Given the description of an element on the screen output the (x, y) to click on. 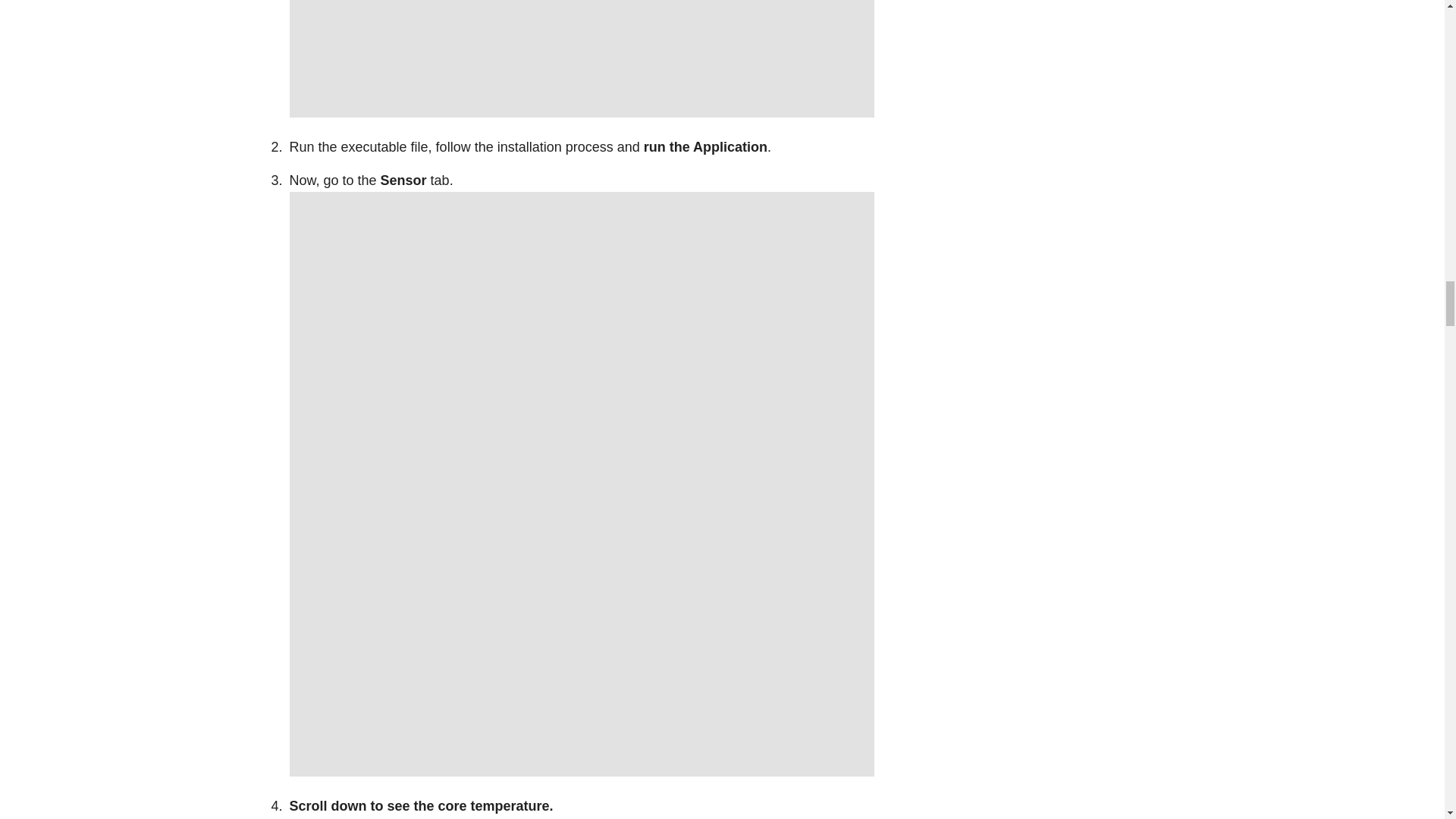
8 Best Tools To Monitor CPU Temperature 20 (582, 58)
